Given the description of an element on the screen output the (x, y) to click on. 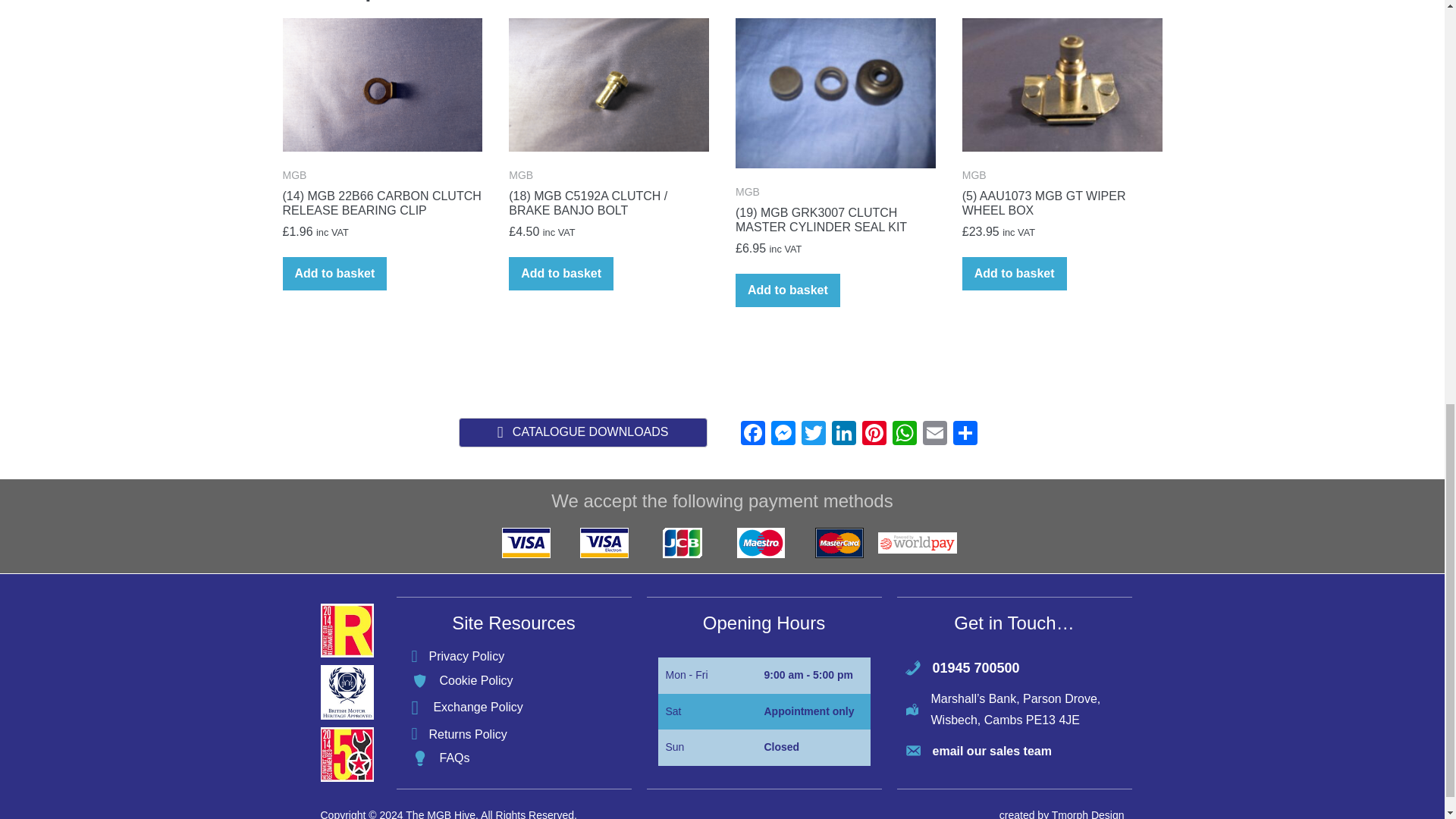
Messenger (782, 434)
Twitter (812, 434)
Pinterest (873, 434)
Facebook (751, 434)
WhatsApp (903, 434)
LinkedIn (843, 434)
